Given the description of an element on the screen output the (x, y) to click on. 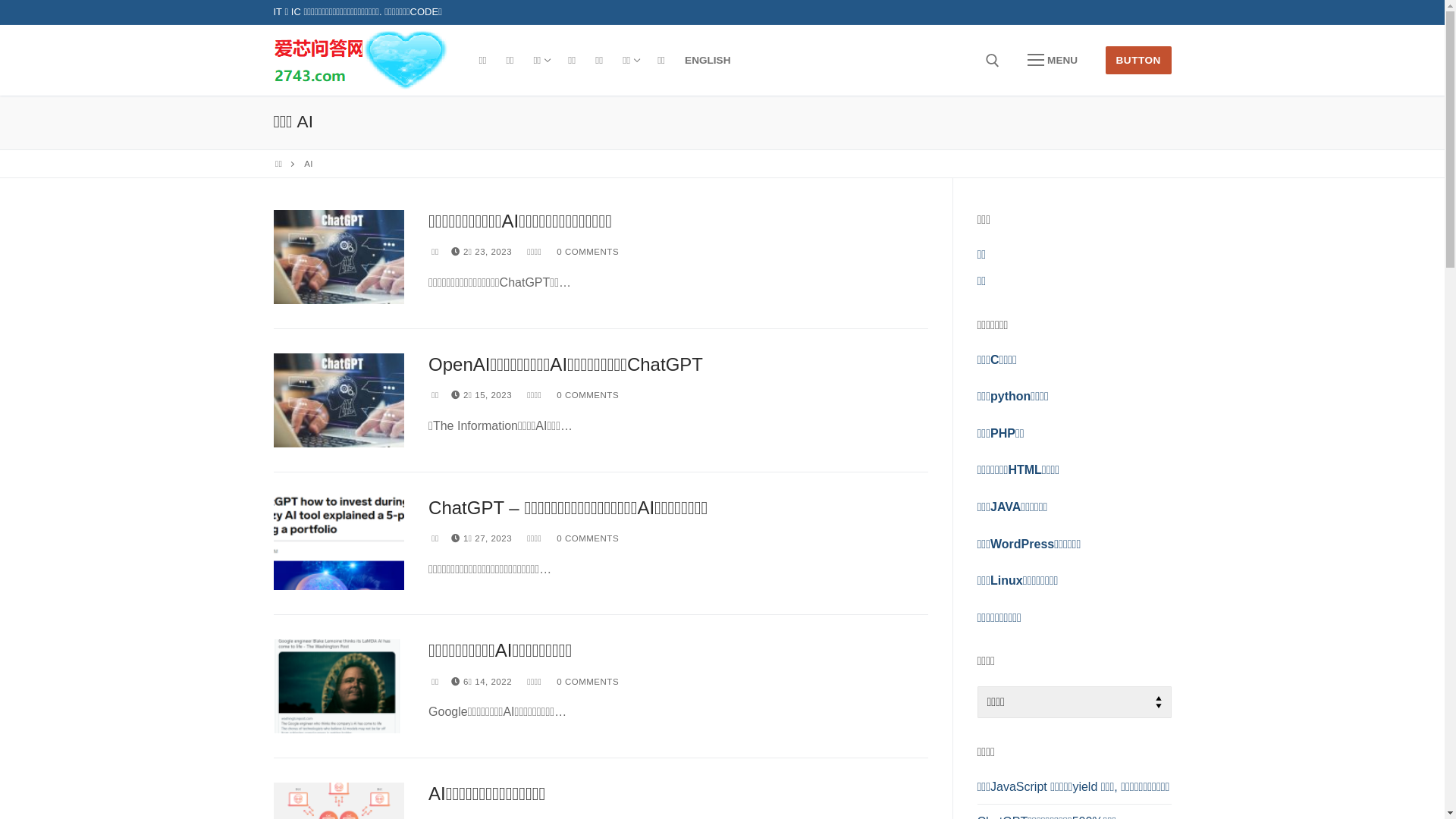
MENU Element type: text (1052, 60)
ENGLISH Element type: text (707, 60)
BUTTON Element type: text (1138, 60)
Skip to content Element type: text (0, 0)
0 COMMENTS Element type: text (585, 537)
0 COMMENTS Element type: text (585, 394)
0 COMMENTS Element type: text (585, 681)
0 COMMENTS Element type: text (585, 251)
